Given the description of an element on the screen output the (x, y) to click on. 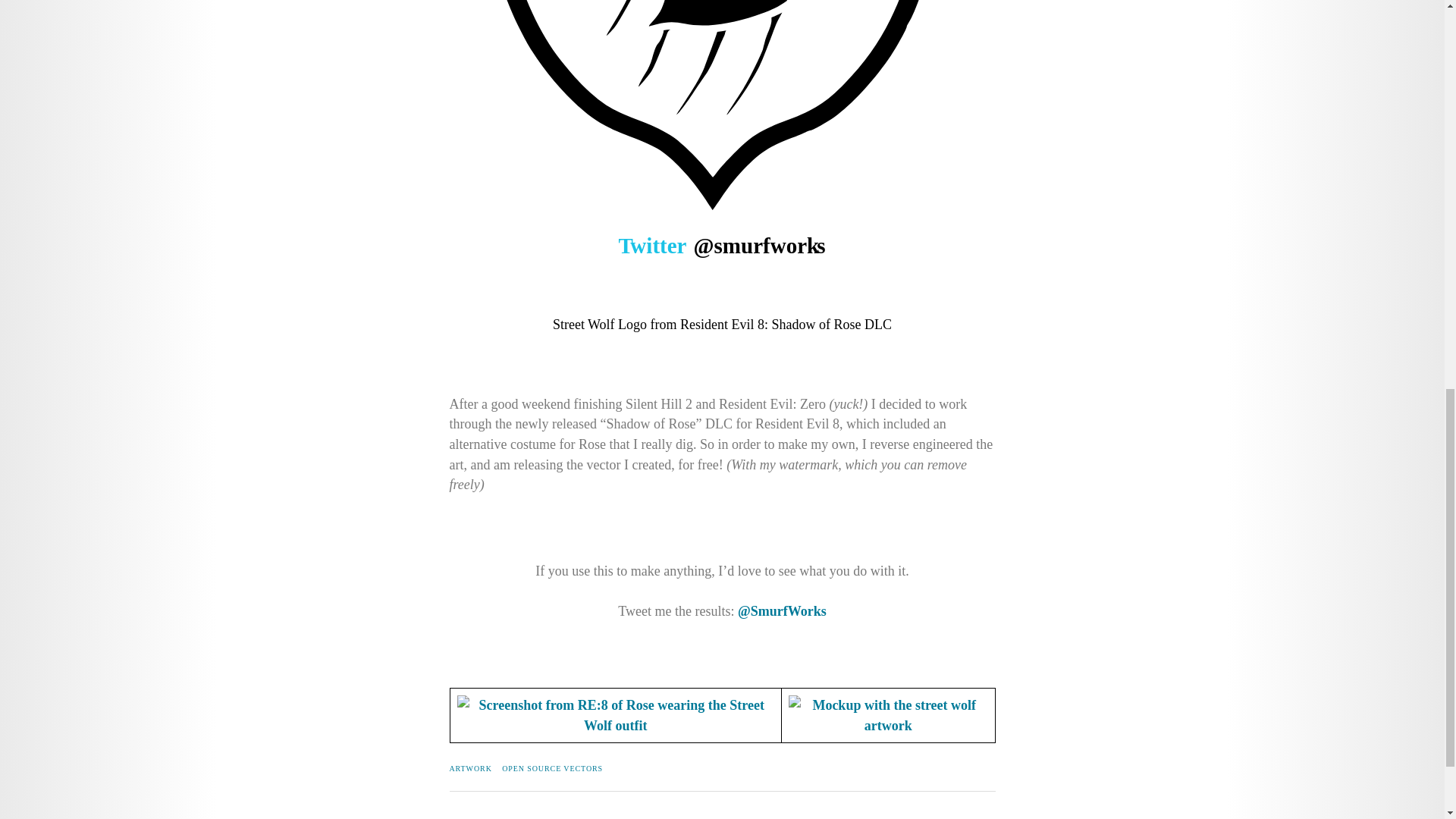
ARTWORK (470, 768)
OPEN SOURCE VECTORS (552, 768)
